Given the description of an element on the screen output the (x, y) to click on. 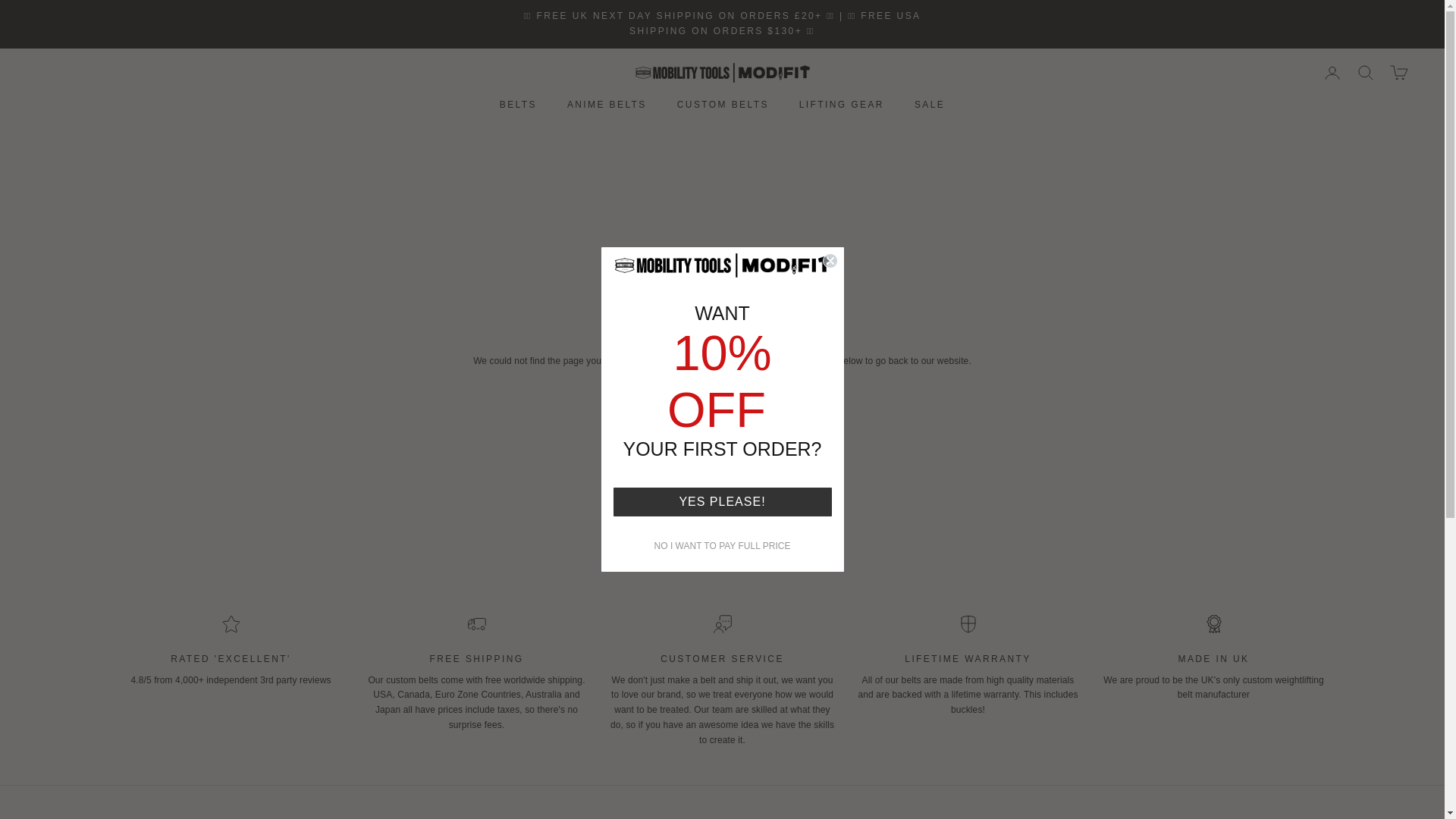
Mobility Tools (721, 72)
